Given the description of an element on the screen output the (x, y) to click on. 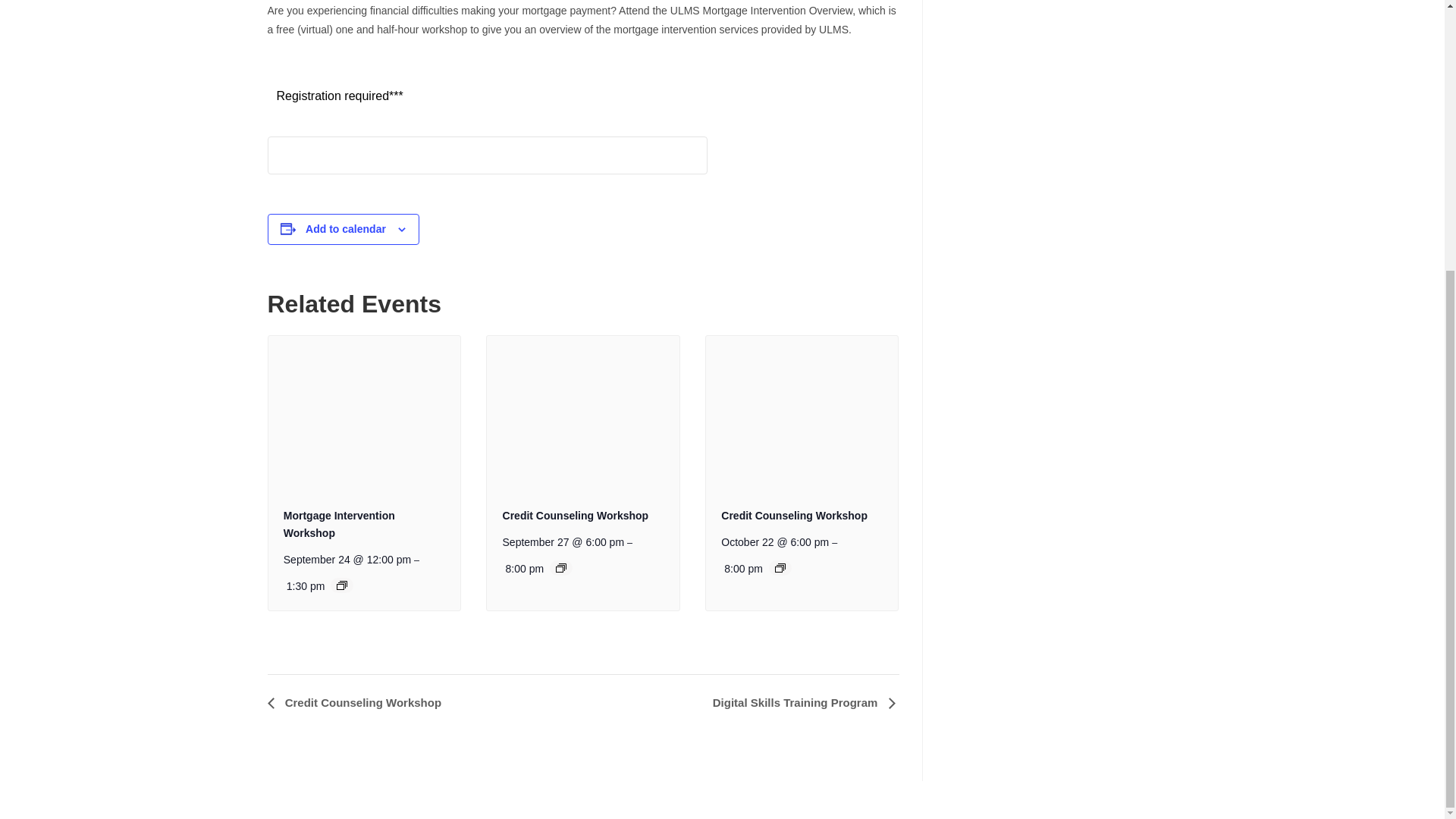
Event Series (561, 567)
Event Series (780, 567)
Event Series (341, 584)
